Given the description of an element on the screen output the (x, y) to click on. 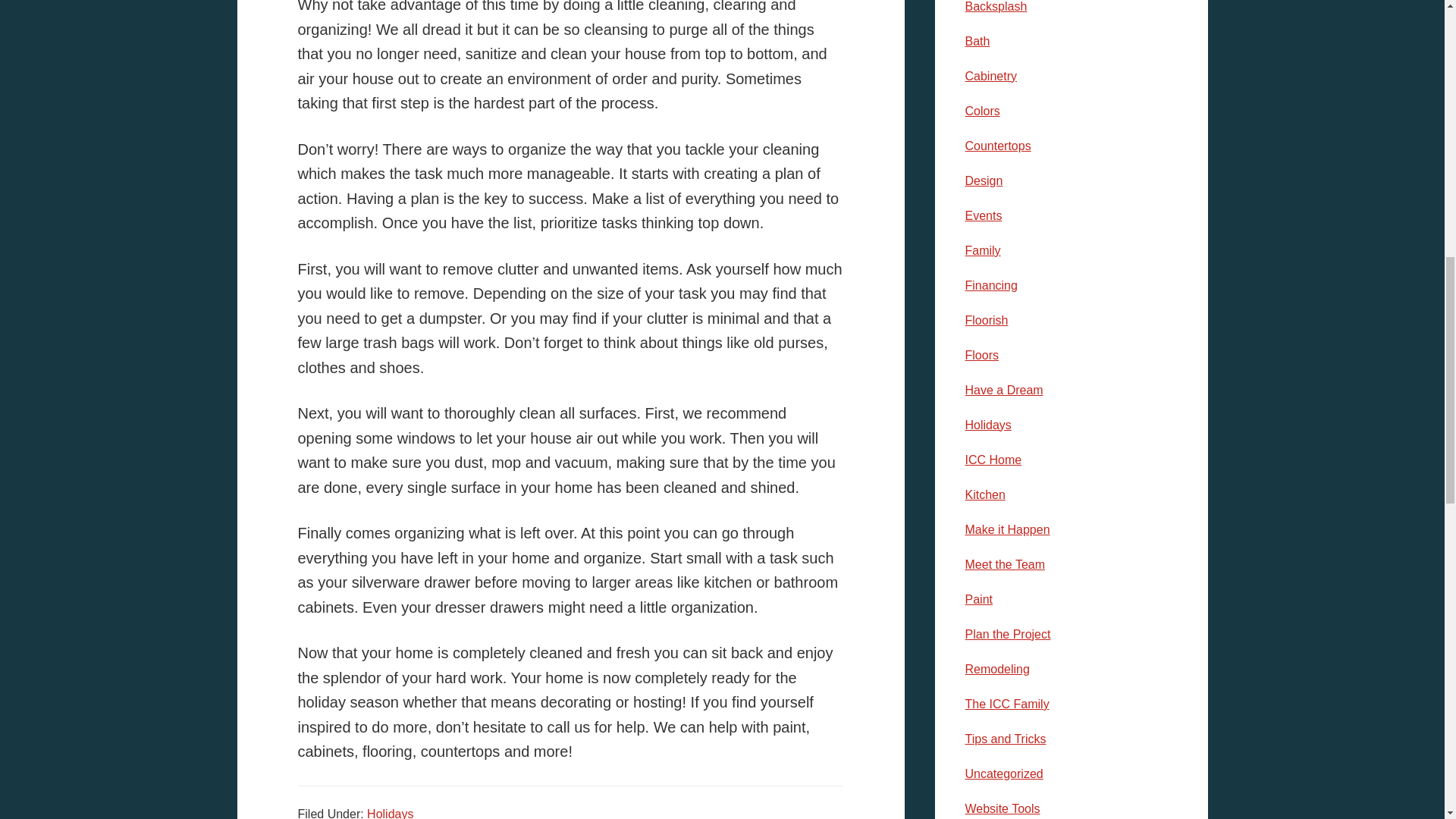
Financing (989, 285)
Floorish (985, 319)
Backsplash (994, 6)
Colors (980, 110)
Holidays (986, 424)
Family (981, 250)
Floors (980, 354)
Countertops (996, 145)
Cabinetry (989, 75)
Holidays (389, 813)
